Given the description of an element on the screen output the (x, y) to click on. 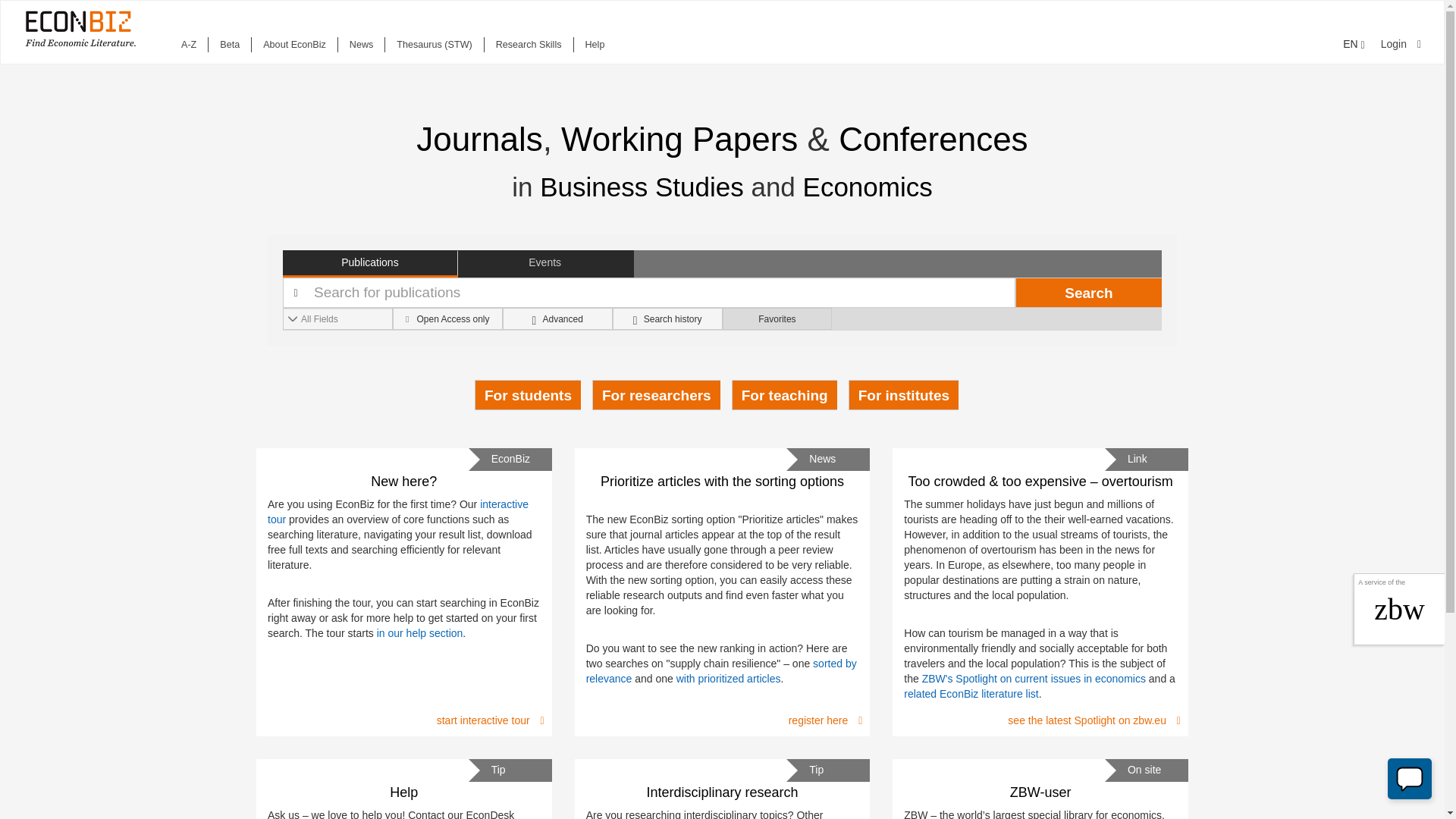
News (361, 44)
Events (545, 263)
Search (1087, 292)
EconBiz - home page (79, 28)
Journals (478, 139)
Economics (868, 186)
Working Papers (678, 139)
Help (594, 44)
open access and free of charge publications (447, 318)
Research Skills (528, 44)
Chat offline (1409, 778)
Business Studies (641, 186)
About EconBiz (293, 44)
Beta (229, 44)
Try out new EconBiz features (229, 44)
